Given the description of an element on the screen output the (x, y) to click on. 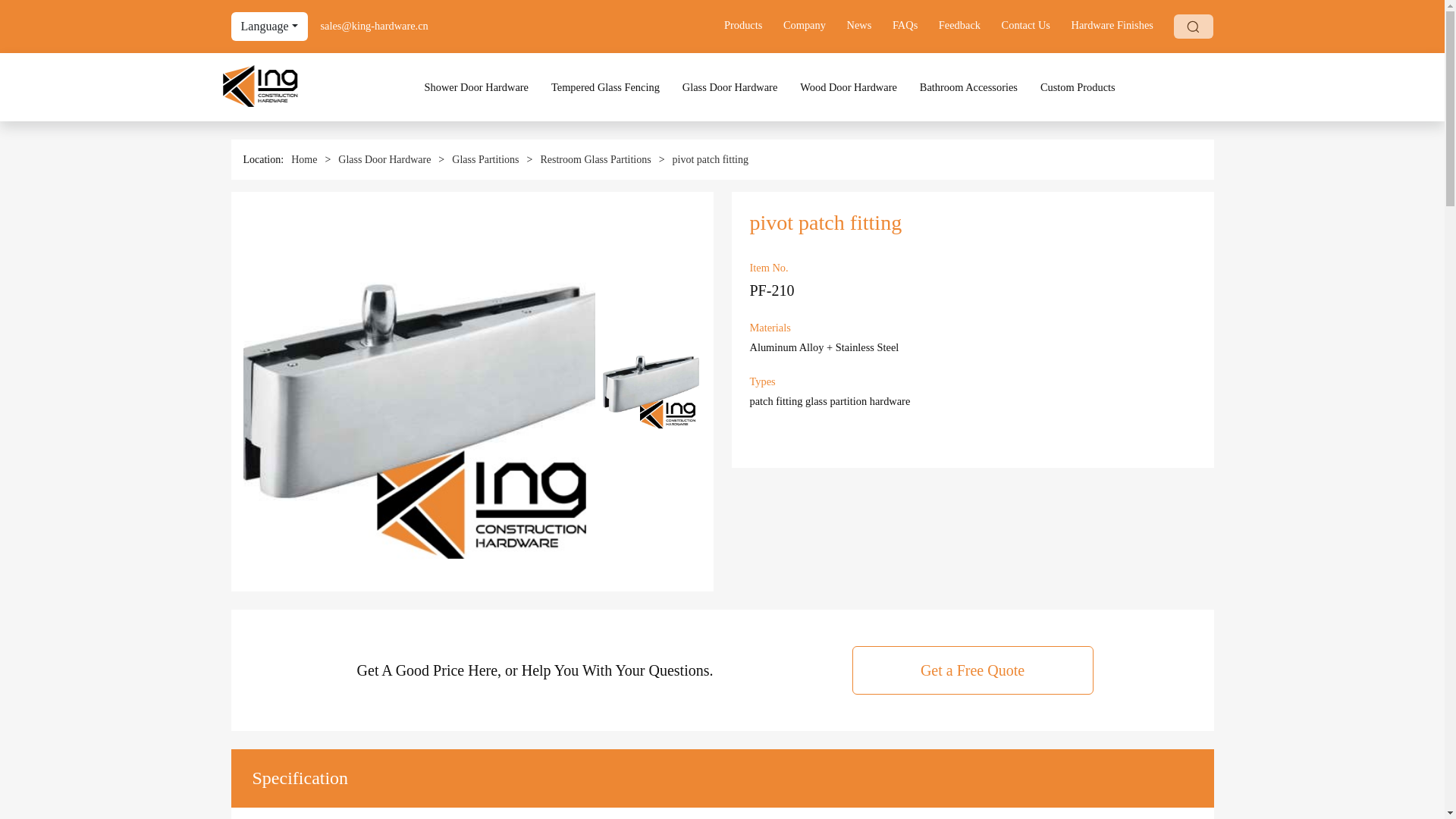
Contact Us (1034, 24)
Company (813, 24)
Contact Us (1034, 24)
Company (813, 24)
Products (751, 24)
Products (751, 24)
Hardware Finishes (1121, 24)
Language (268, 26)
King Construction Hardware Factory Contact Us (374, 25)
Feedback (968, 24)
FAQs (914, 24)
Hardware Finishes (1121, 24)
News (868, 24)
Feedback (968, 24)
News (868, 24)
